Given the description of an element on the screen output the (x, y) to click on. 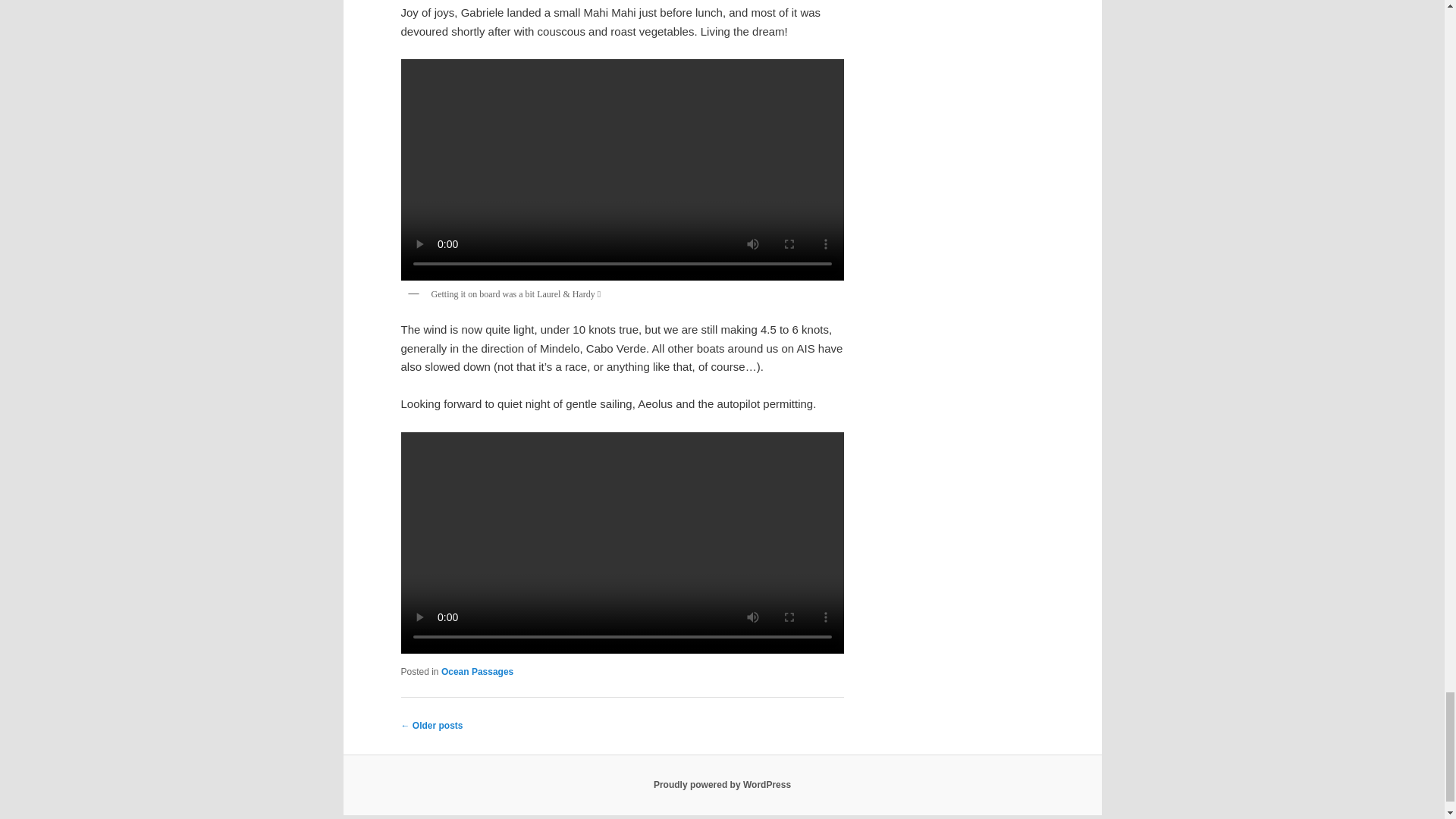
Ocean Passages (477, 671)
